Given the description of an element on the screen output the (x, y) to click on. 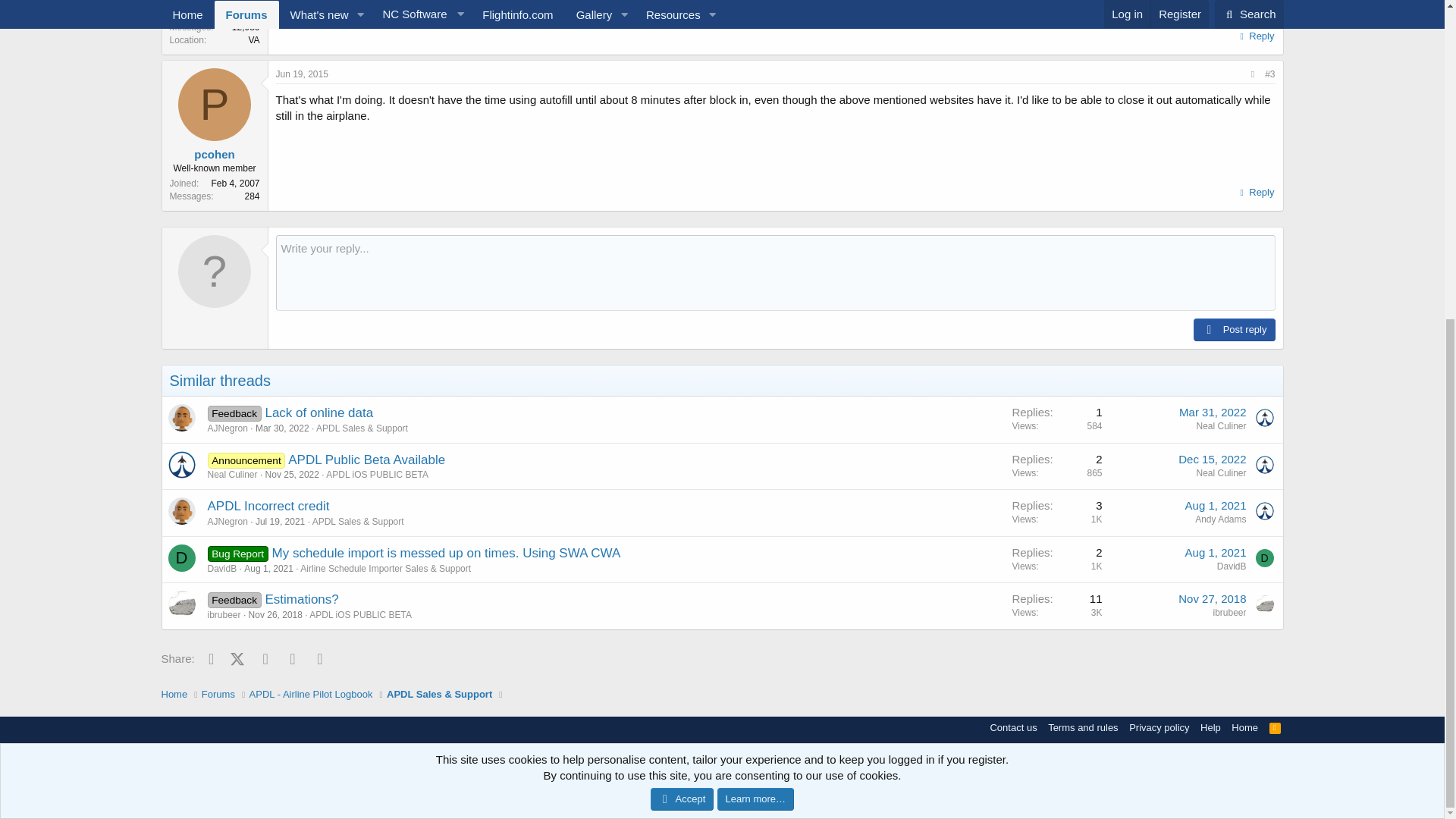
First message reaction score: 0 (1057, 512)
Jun 19, 2015 at 9:21 AM (302, 73)
Nov 25, 2022 at 9:12 AM (291, 474)
Dec 15, 2022 at 8:13 AM (1211, 459)
Aug 1, 2021 at 8:27 PM (1215, 504)
Jul 19, 2021 at 1:44 PM (280, 521)
First message reaction score: 0 (1057, 465)
Reply, quoting this message (1254, 35)
Reply, quoting this message (1254, 192)
First message reaction score: 0 (1057, 419)
